Given the description of an element on the screen output the (x, y) to click on. 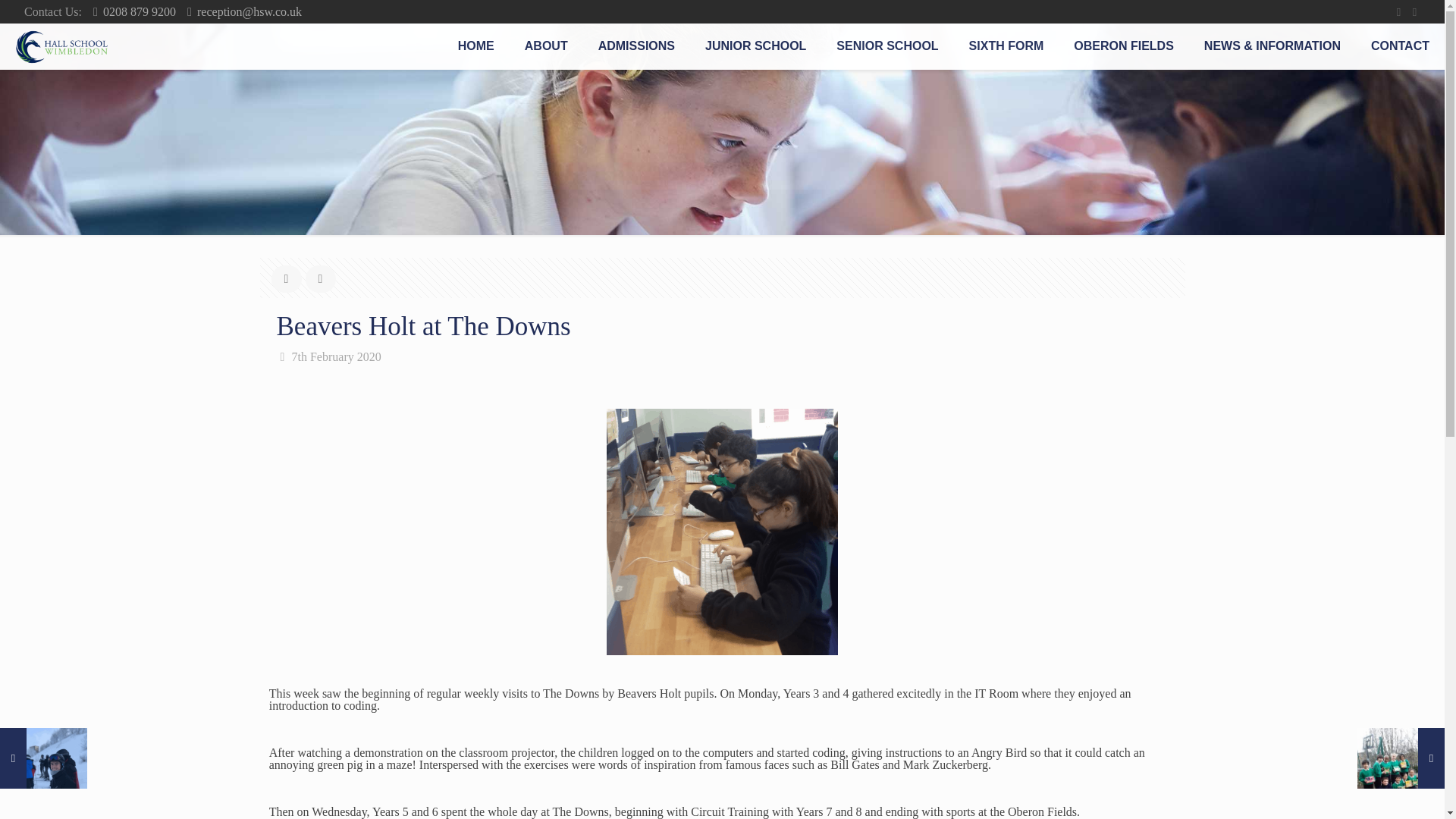
JUNIOR SCHOOL (755, 45)
ABOUT (546, 45)
LinkedIn (1415, 11)
SENIOR SCHOOL (887, 45)
ADMISSIONS (636, 45)
0208 879 9200 (139, 11)
HOME (475, 45)
Hall School Wimbledon (60, 45)
